Given the description of an element on the screen output the (x, y) to click on. 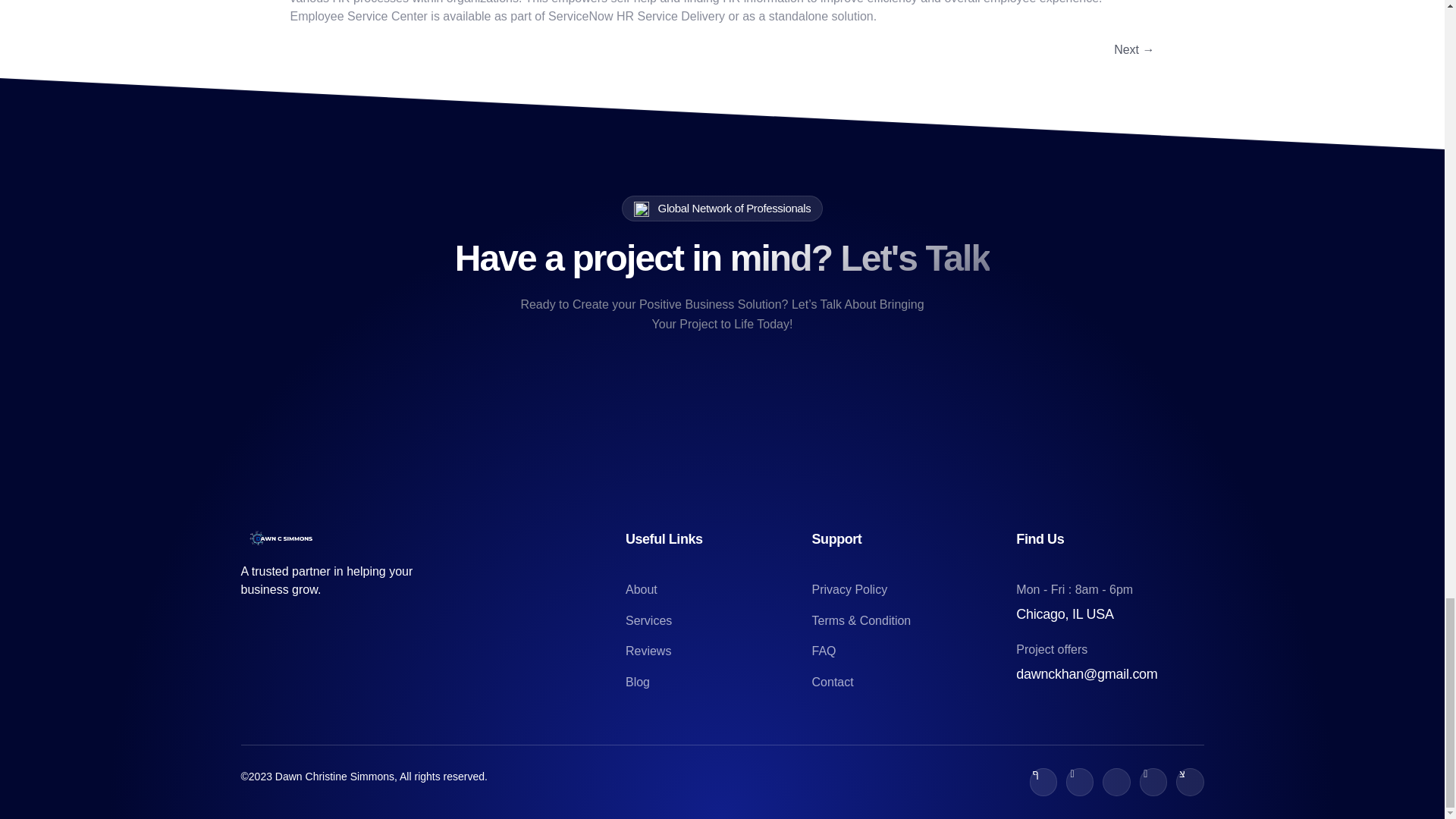
Services (719, 620)
About (719, 589)
Reviews (719, 650)
Privacy Policy (911, 589)
FAQ (911, 650)
Contact (911, 682)
Blog (719, 682)
